Given the description of an element on the screen output the (x, y) to click on. 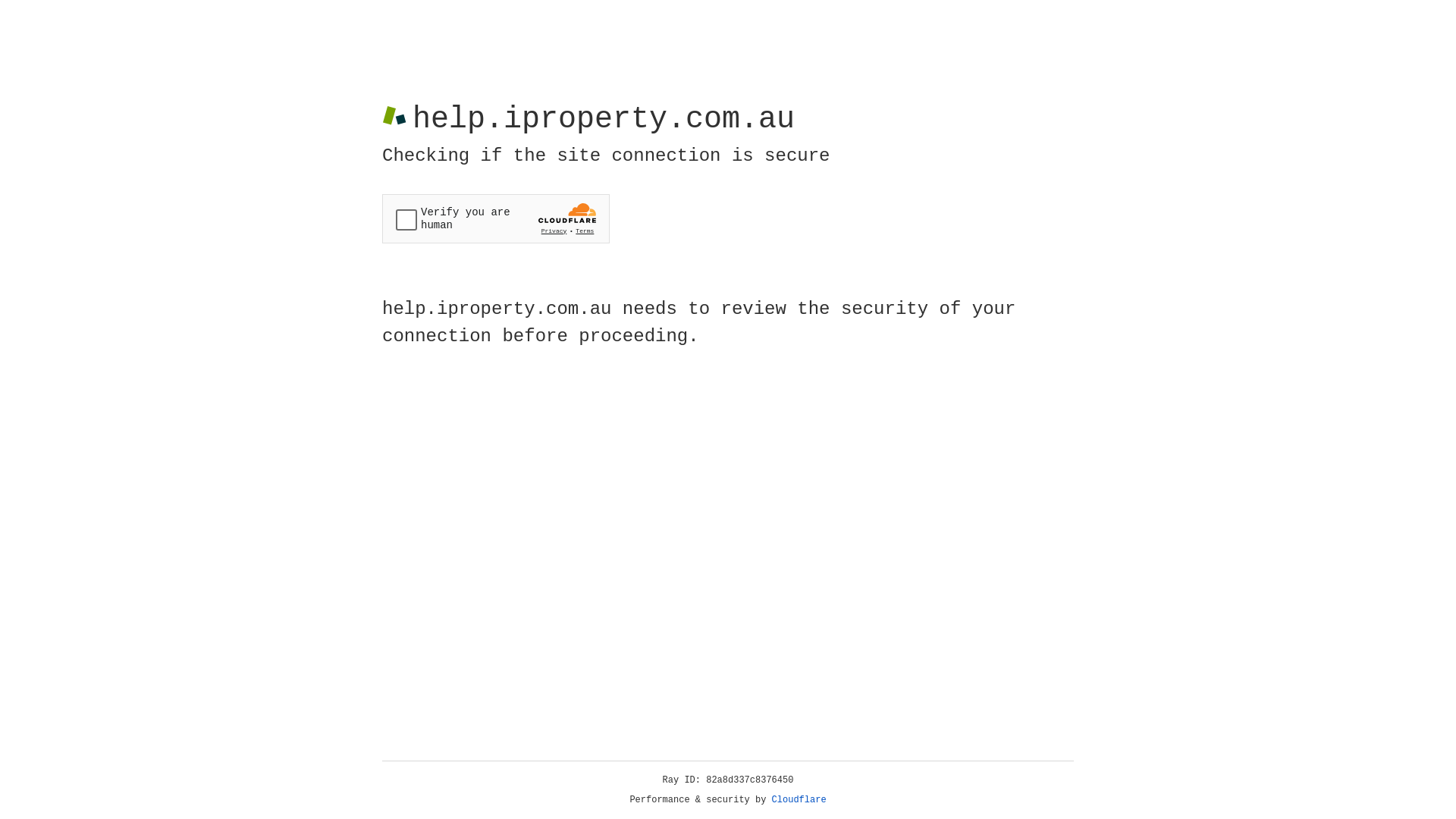
Widget containing a Cloudflare security challenge Element type: hover (495, 218)
Cloudflare Element type: text (798, 799)
